Given the description of an element on the screen output the (x, y) to click on. 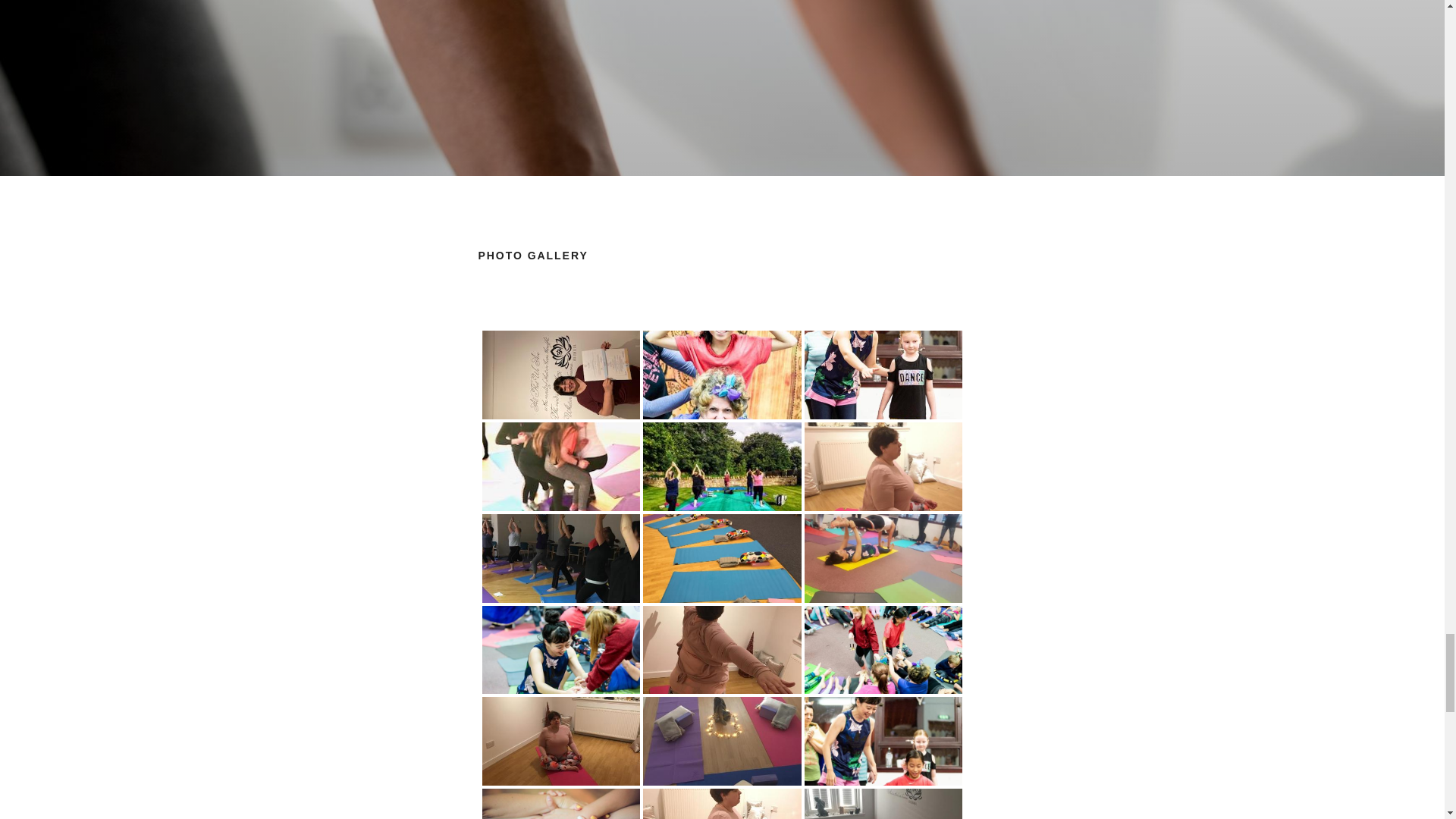
3rd Picture (883, 467)
work1 (722, 558)
kids13 (883, 558)
yoga 500 hrs (560, 374)
kids6 (560, 649)
kids11 (883, 649)
